Given the description of an element on the screen output the (x, y) to click on. 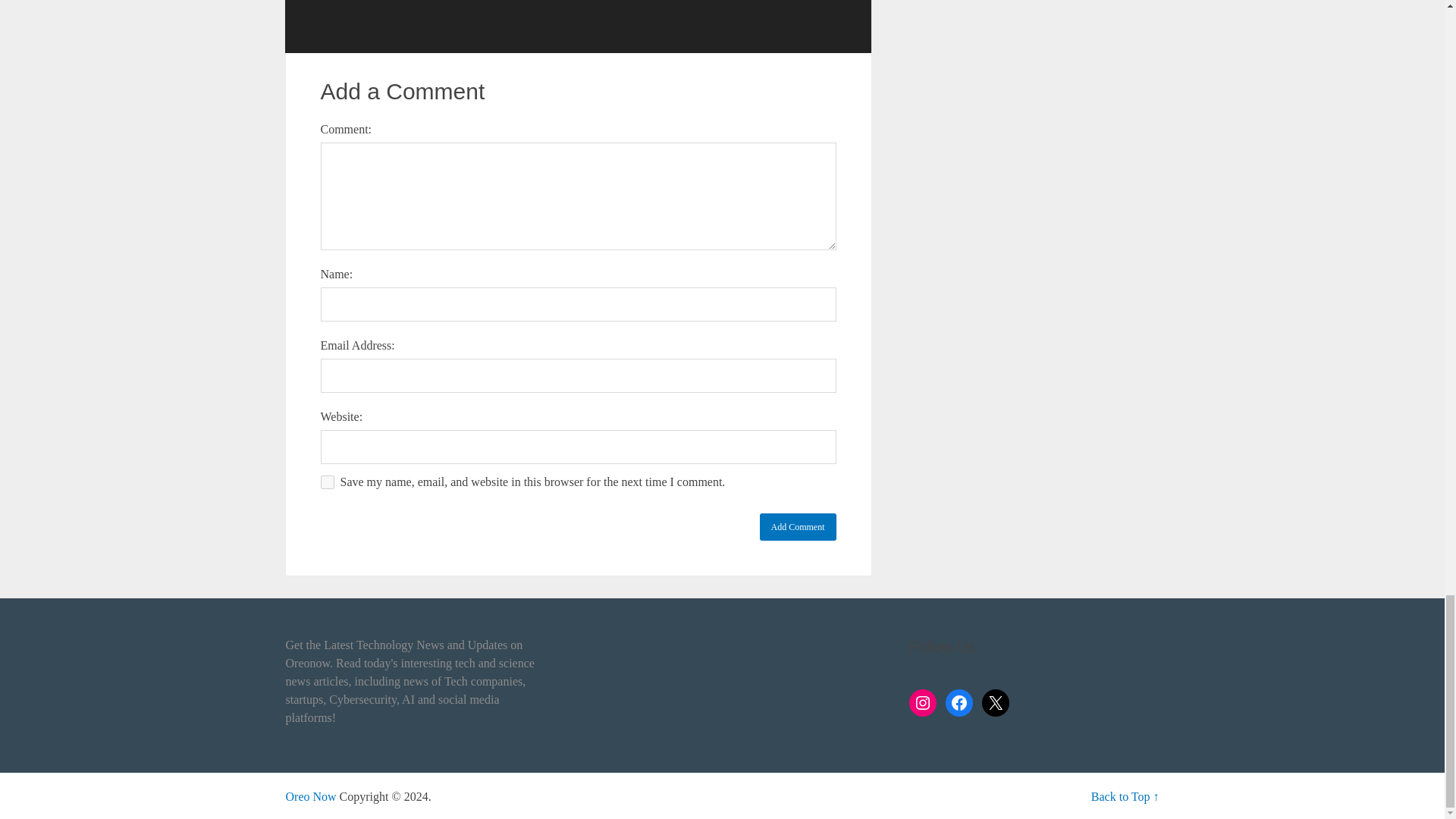
Add Comment (797, 526)
Trending News, Views and Reviews (310, 796)
Add Comment (797, 526)
yes (326, 481)
